Given the description of an element on the screen output the (x, y) to click on. 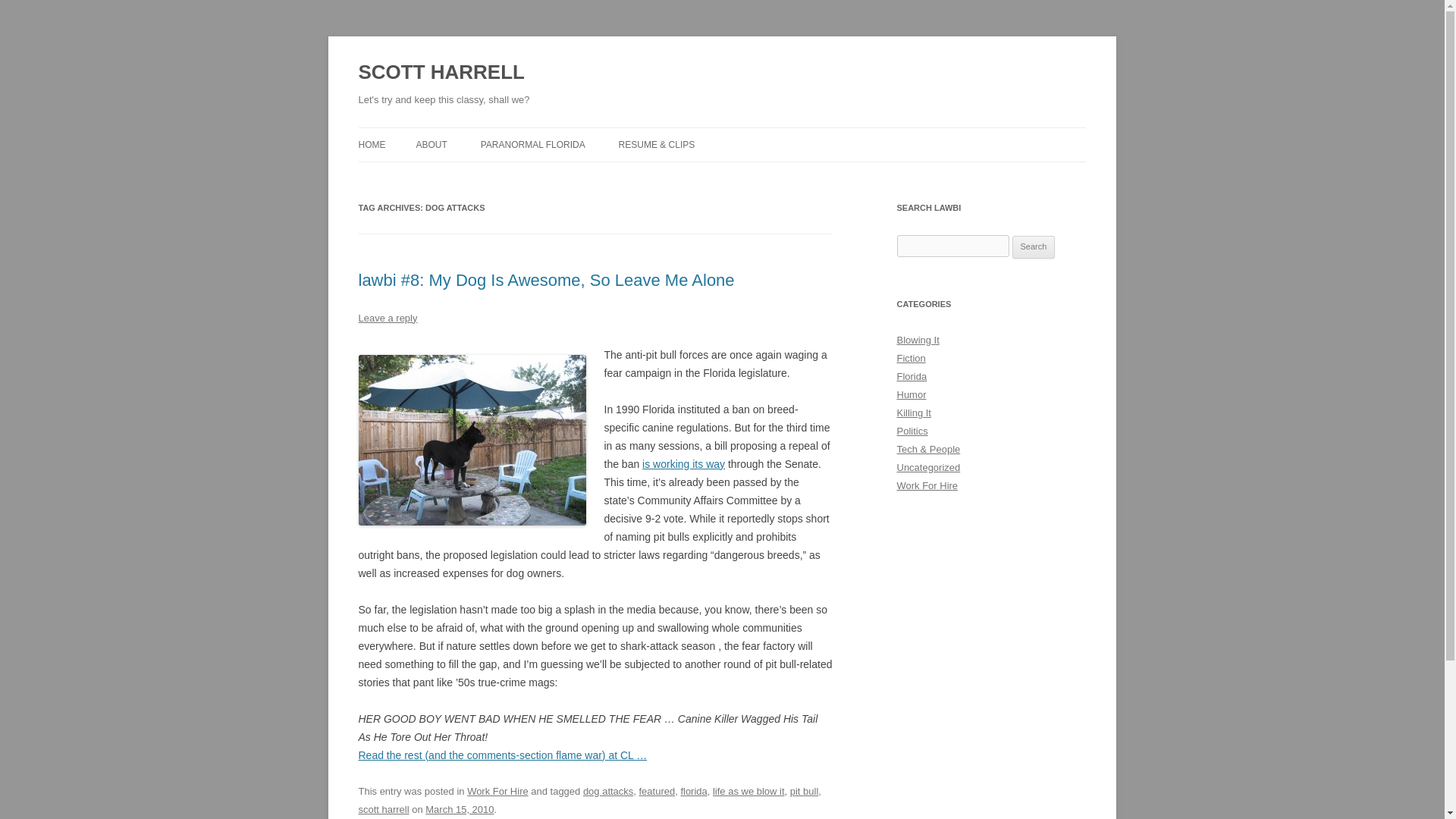
Blowing It (917, 339)
life as we blow it (748, 790)
Killing It (913, 412)
florida (692, 790)
featured (657, 790)
Humor (911, 394)
Fiction (910, 357)
SCOTT HARRELL (441, 72)
Leave a reply (387, 317)
